Given the description of an element on the screen output the (x, y) to click on. 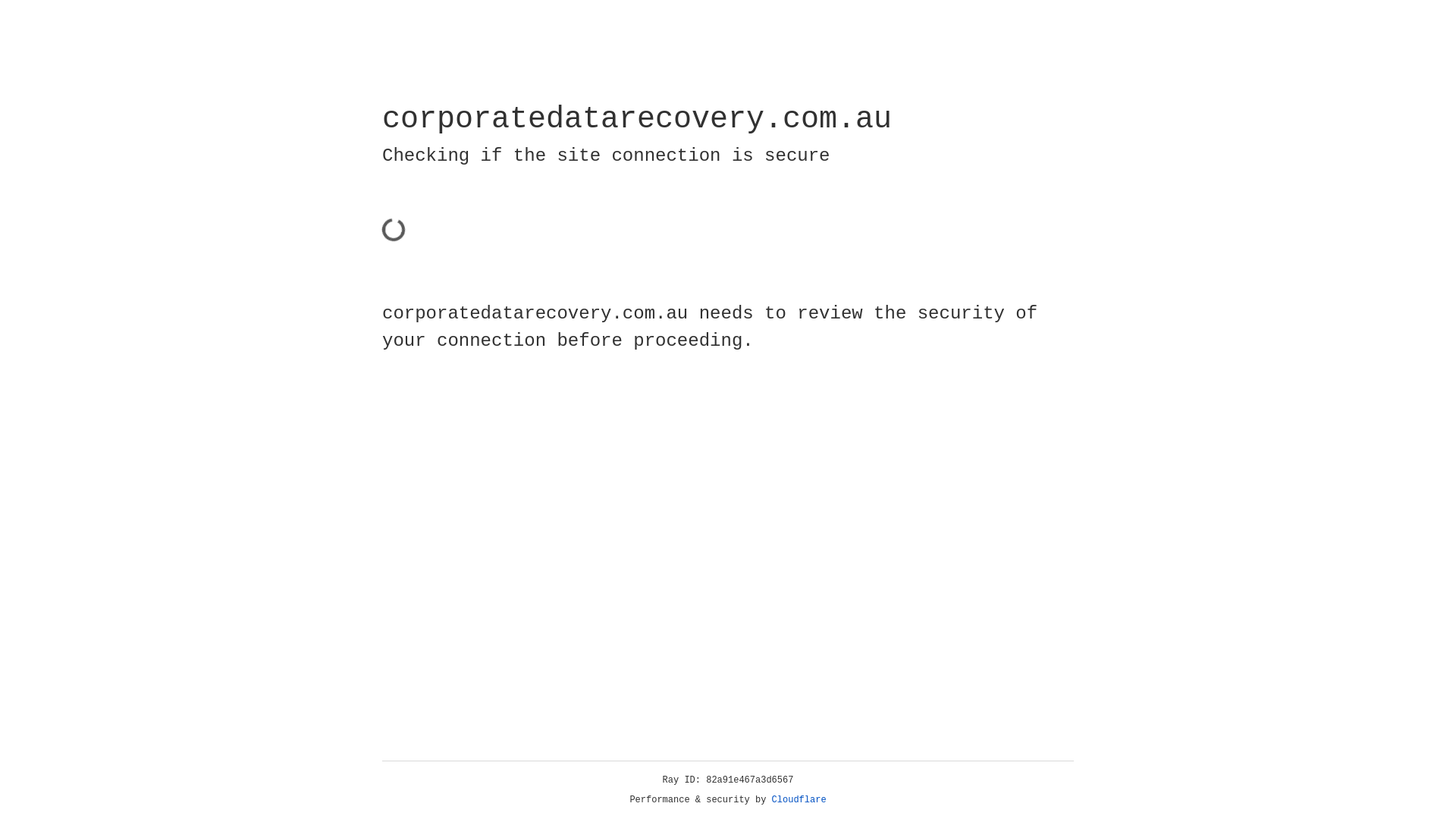
Cloudflare Element type: text (798, 799)
